Given the description of an element on the screen output the (x, y) to click on. 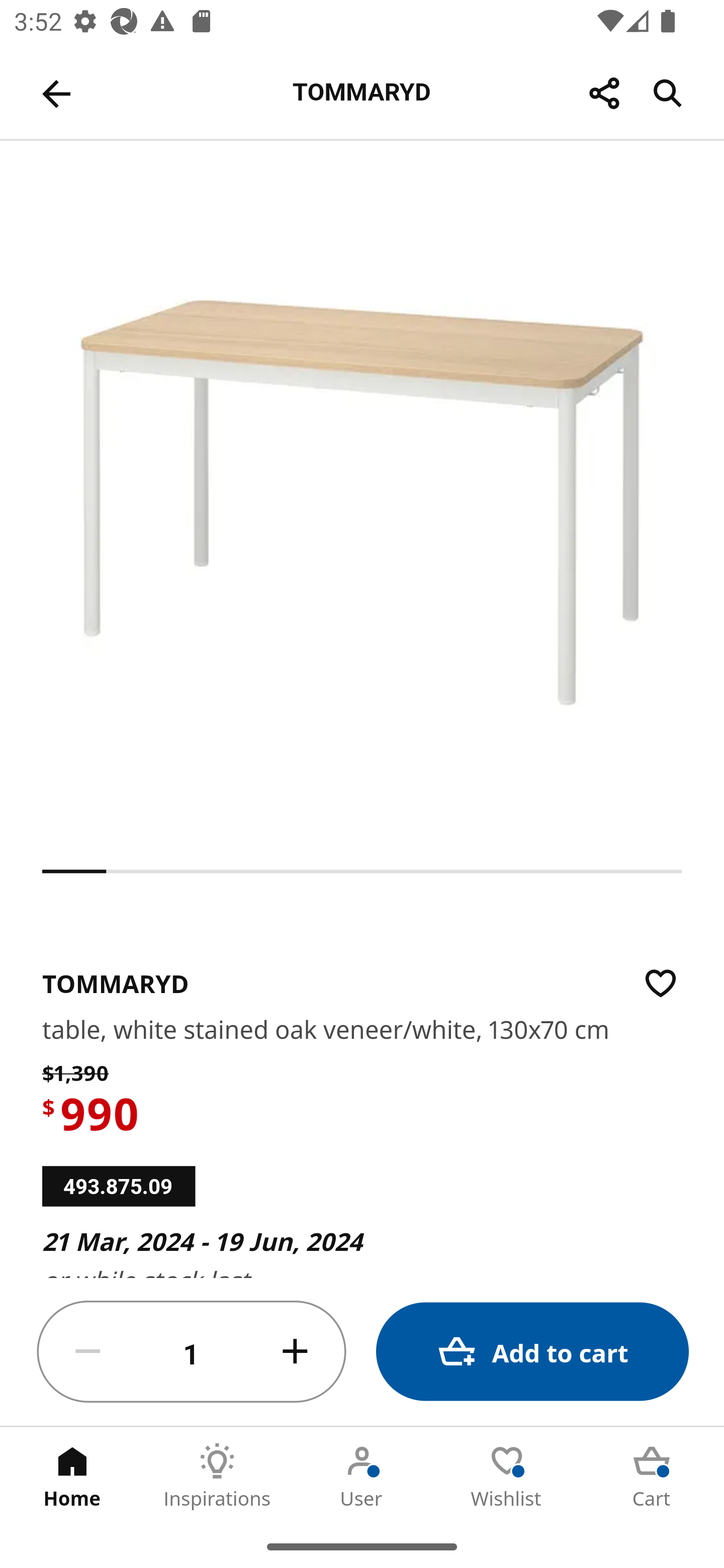
Add to cart (531, 1352)
1 (191, 1352)
Home
Tab 1 of 5 (72, 1476)
Inspirations
Tab 2 of 5 (216, 1476)
User
Tab 3 of 5 (361, 1476)
Wishlist
Tab 4 of 5 (506, 1476)
Cart
Tab 5 of 5 (651, 1476)
